Given the description of an element on the screen output the (x, y) to click on. 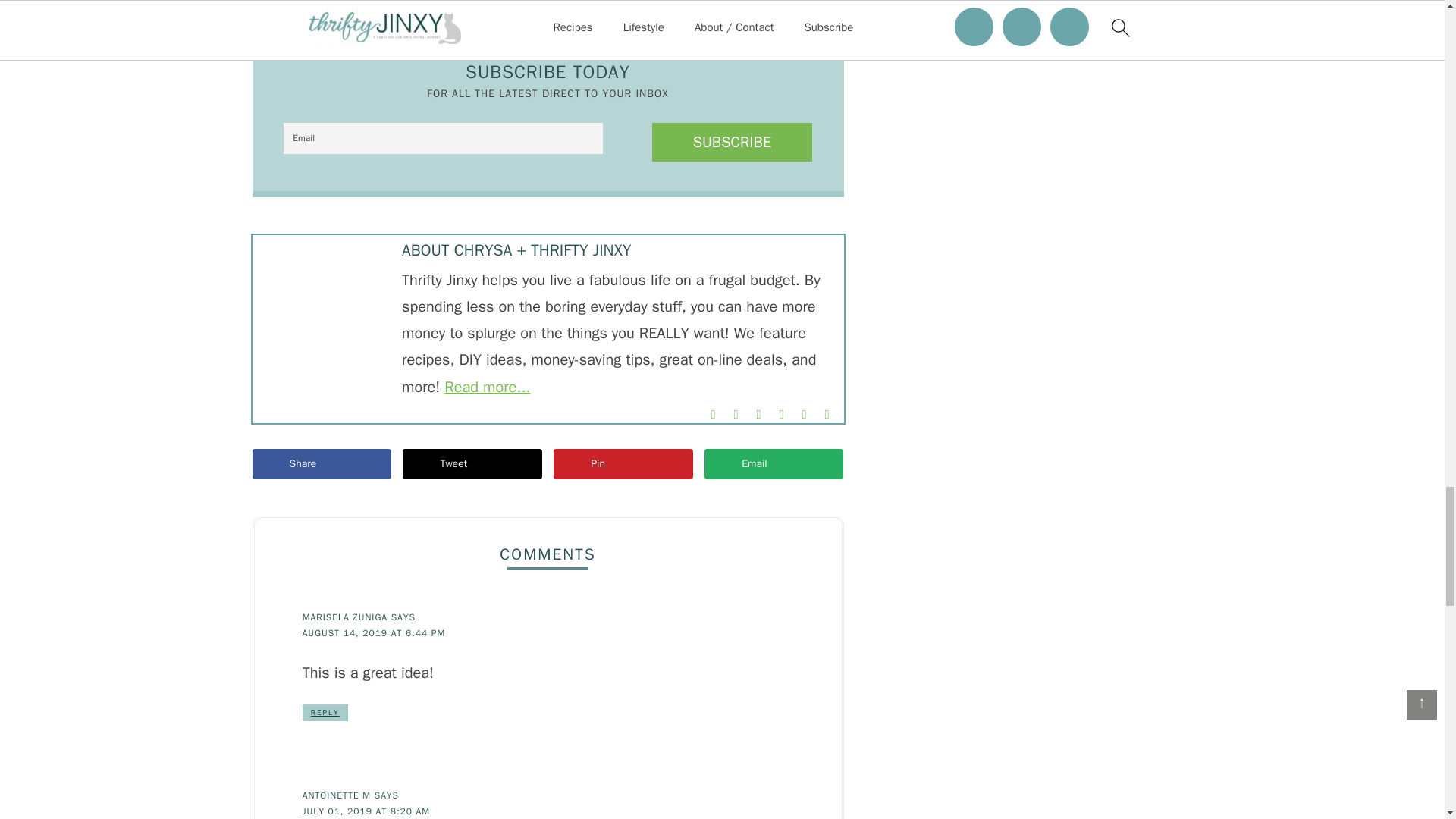
Share on X (472, 463)
Share on Facebook (320, 463)
Save to Pinterest (623, 463)
Send over email (773, 463)
